Given the description of an element on the screen output the (x, y) to click on. 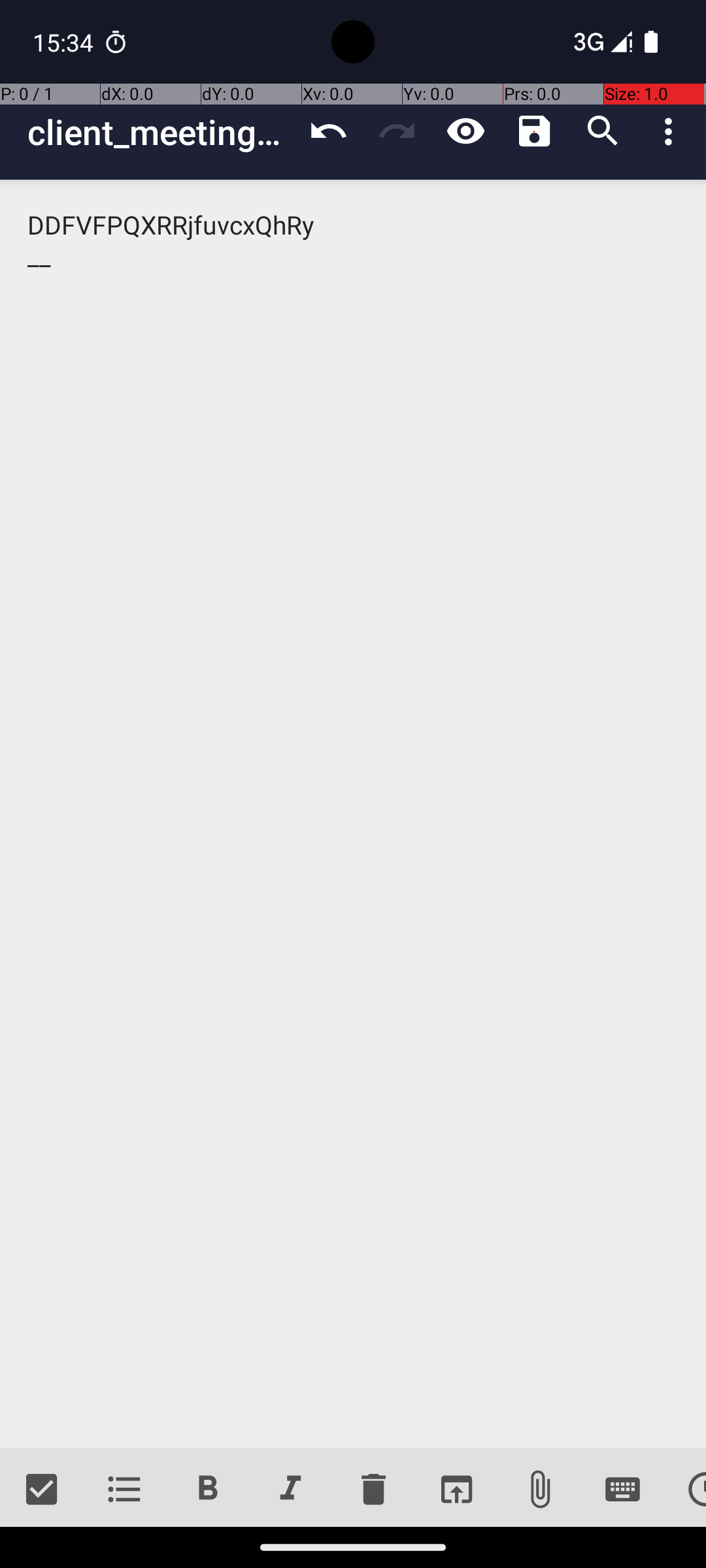
client_meetings_schedule_backup Element type: android.widget.TextView (160, 131)
DDFVFPQXRRjfuvcxQhRy
__ Element type: android.widget.EditText (353, 813)
